Given the description of an element on the screen output the (x, y) to click on. 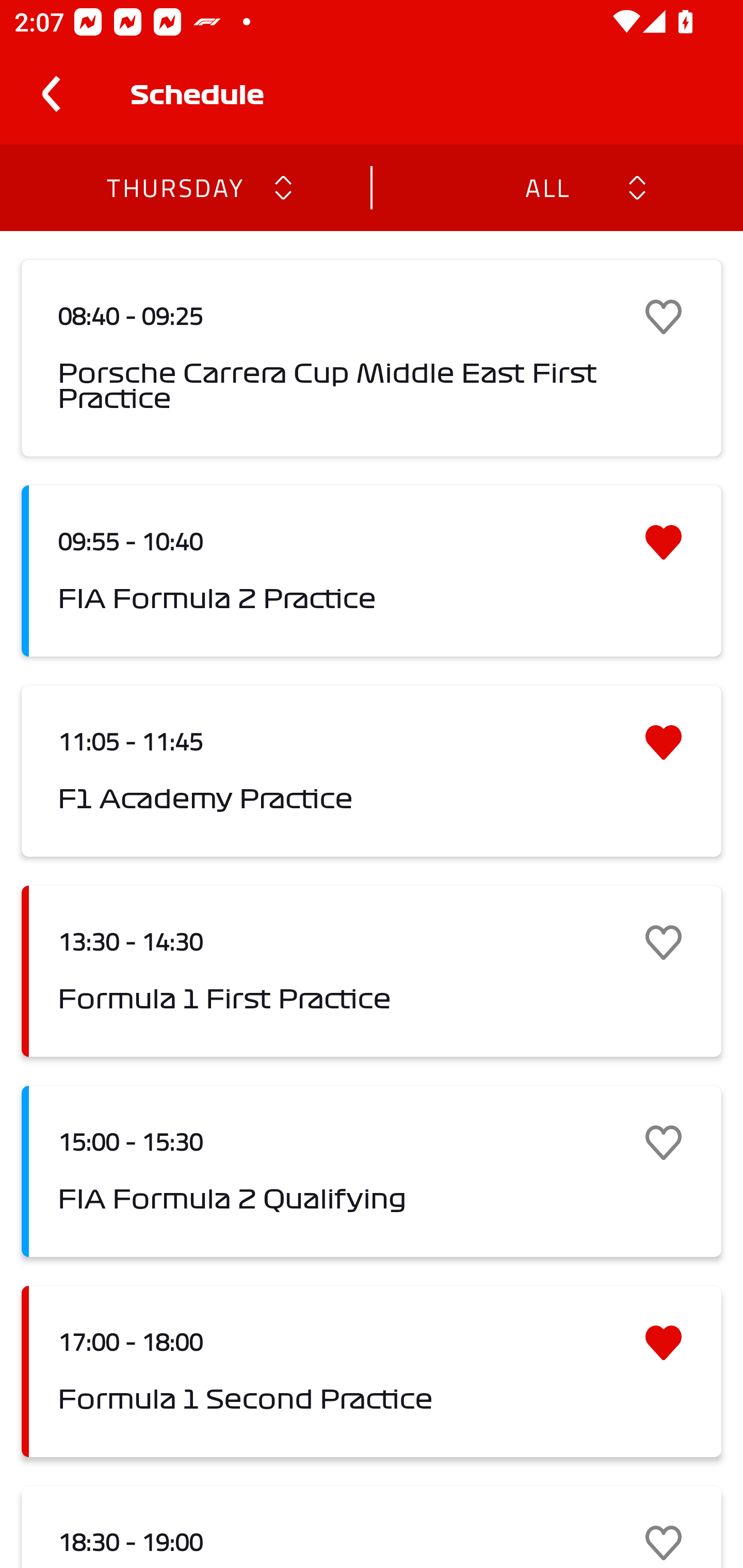
Navigate up (50, 93)
THURSDAY (174, 187)
ALL (546, 187)
09:55 - 10:40 FIA Formula 2 Practice (371, 571)
11:05 - 11:45 F1 Academy Practice (371, 770)
13:30 - 14:30 Formula 1 First Practice (371, 970)
15:00 - 15:30 FIA Formula 2 Qualifying (371, 1171)
17:00 - 18:00 Formula 1 Second Practice (371, 1370)
18:30 - 19:00 (371, 1527)
